Given the description of an element on the screen output the (x, y) to click on. 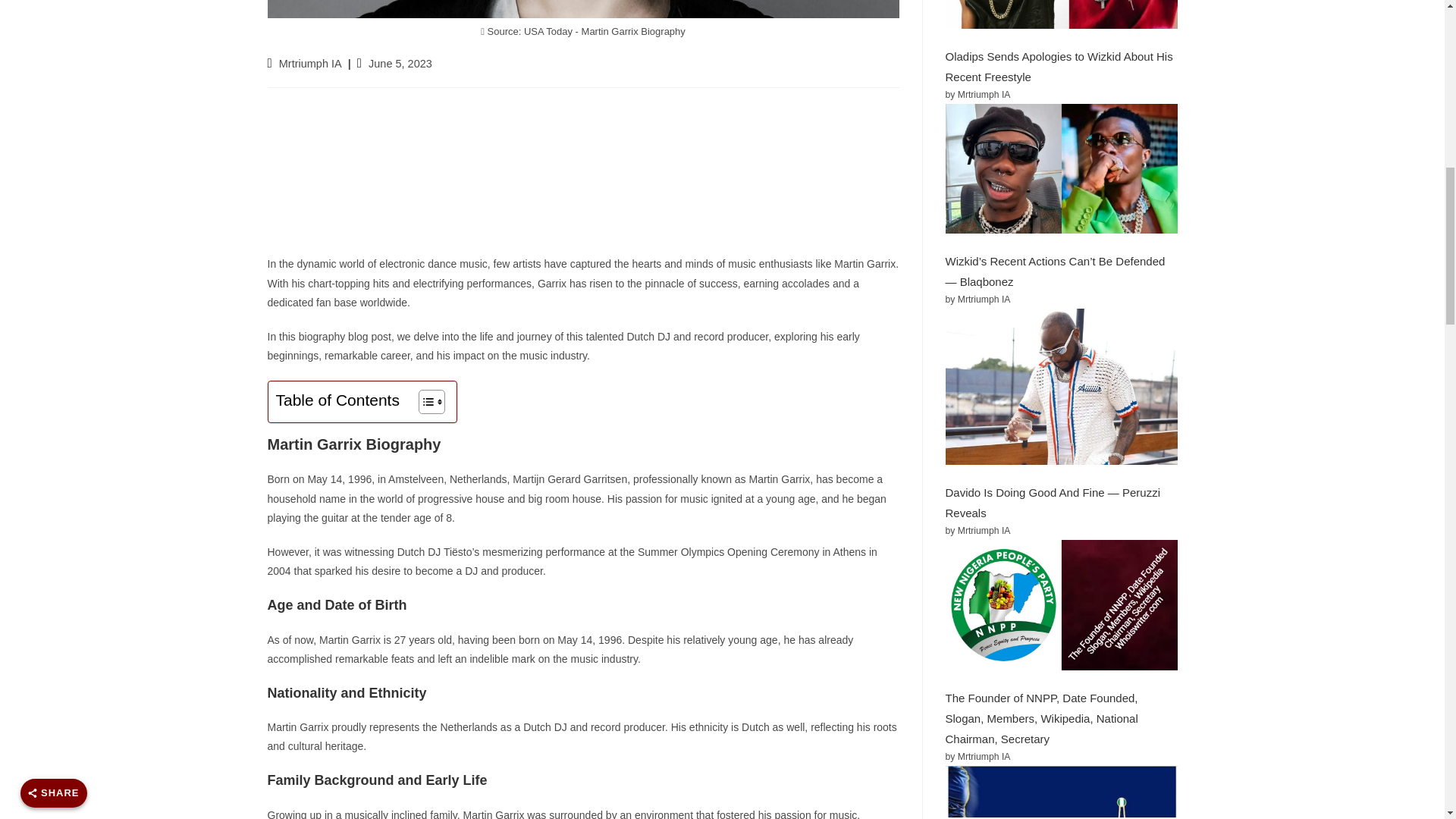
Posts by Mrtriumph IA (310, 63)
Mrtriumph IA (310, 63)
